Given the description of an element on the screen output the (x, y) to click on. 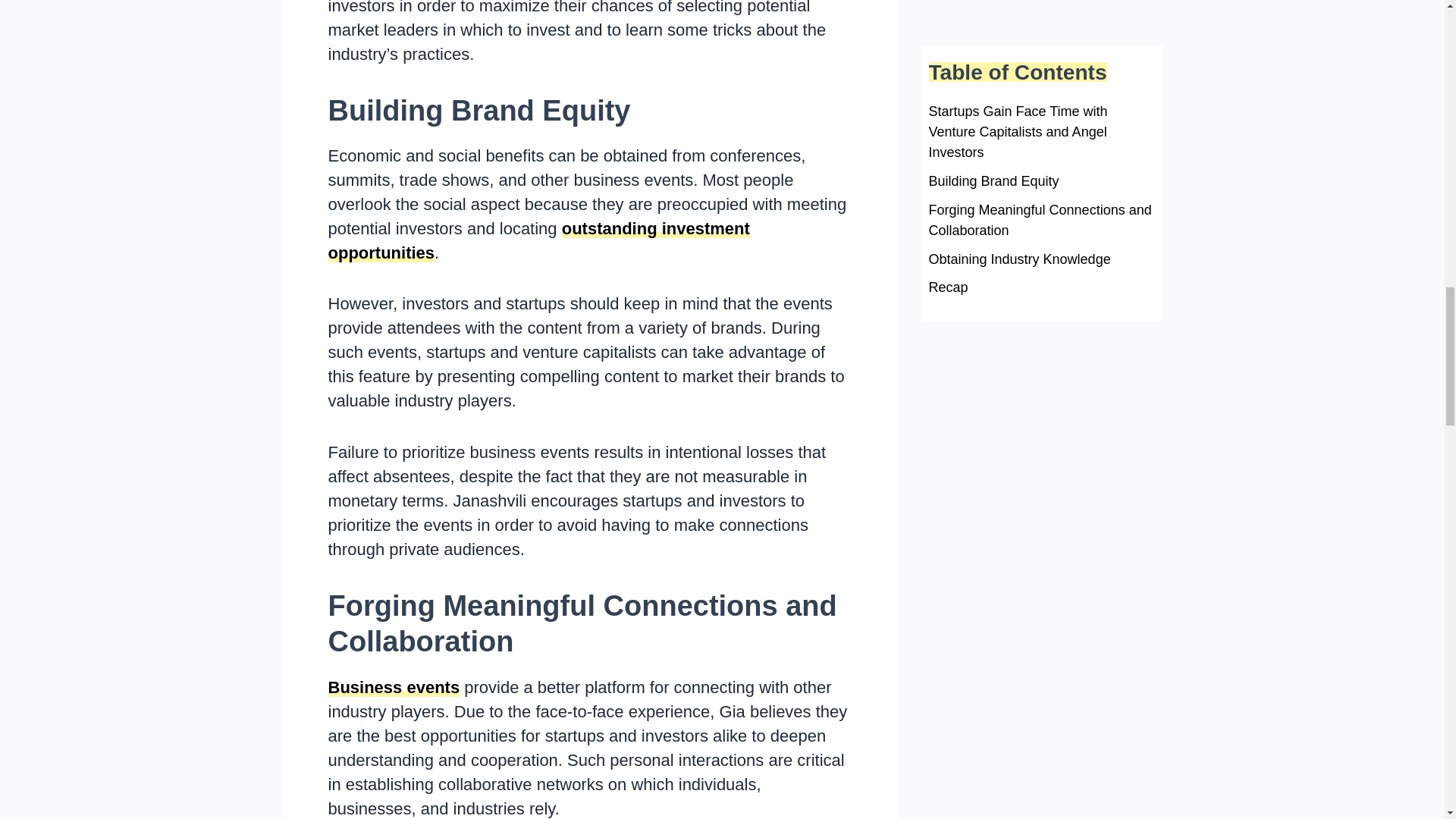
Business events (393, 687)
outstanding investment opportunities (538, 240)
